Given the description of an element on the screen output the (x, y) to click on. 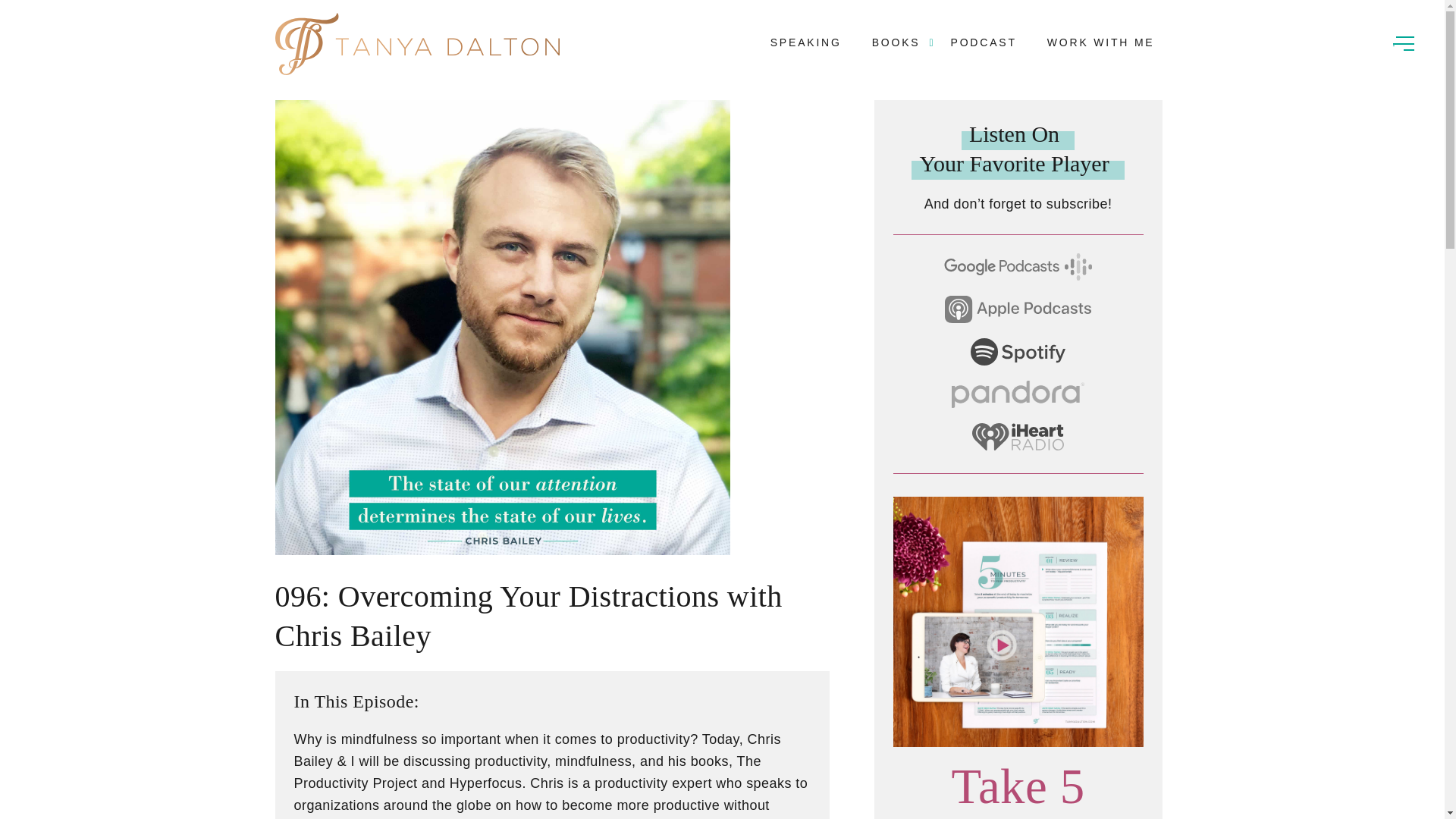
PODCAST (983, 42)
BOOKS (896, 42)
WORK WITH ME (1100, 42)
MENU (1403, 41)
SPEAKING (805, 42)
SKIP TO THE CONTENT (72, 14)
